Given the description of an element on the screen output the (x, y) to click on. 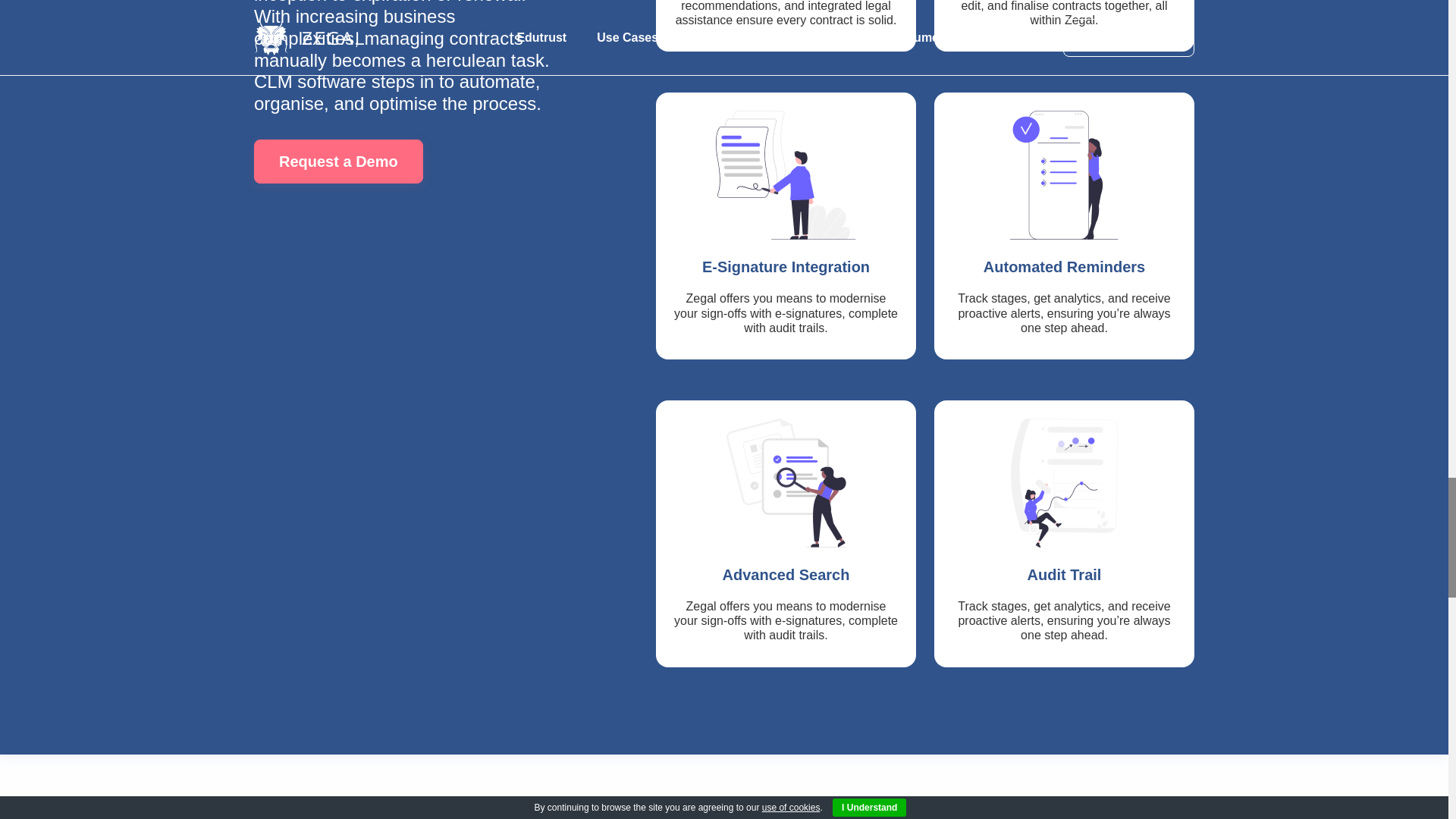
Feature List Icon (786, 174)
Feature List Icon (1064, 482)
Request a Demo (338, 161)
Feature List Icon (785, 482)
Feature List Icon (1064, 174)
